Given the description of an element on the screen output the (x, y) to click on. 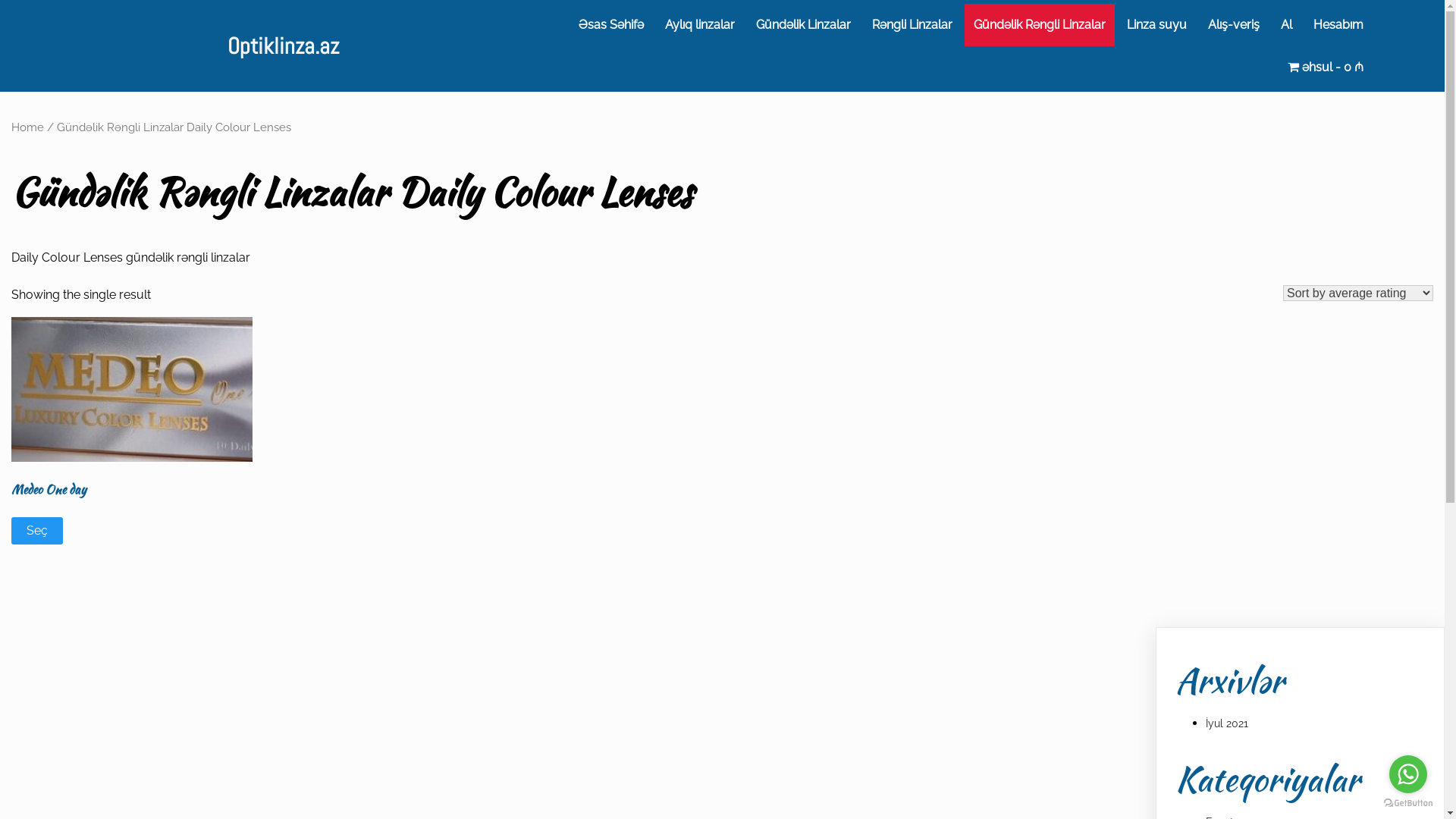
Optiklinza.az Element type: text (283, 46)
Al Element type: text (1286, 24)
Home Element type: text (27, 126)
Medeo One day Element type: text (131, 426)
Linza suyu Element type: text (1156, 24)
